Given the description of an element on the screen output the (x, y) to click on. 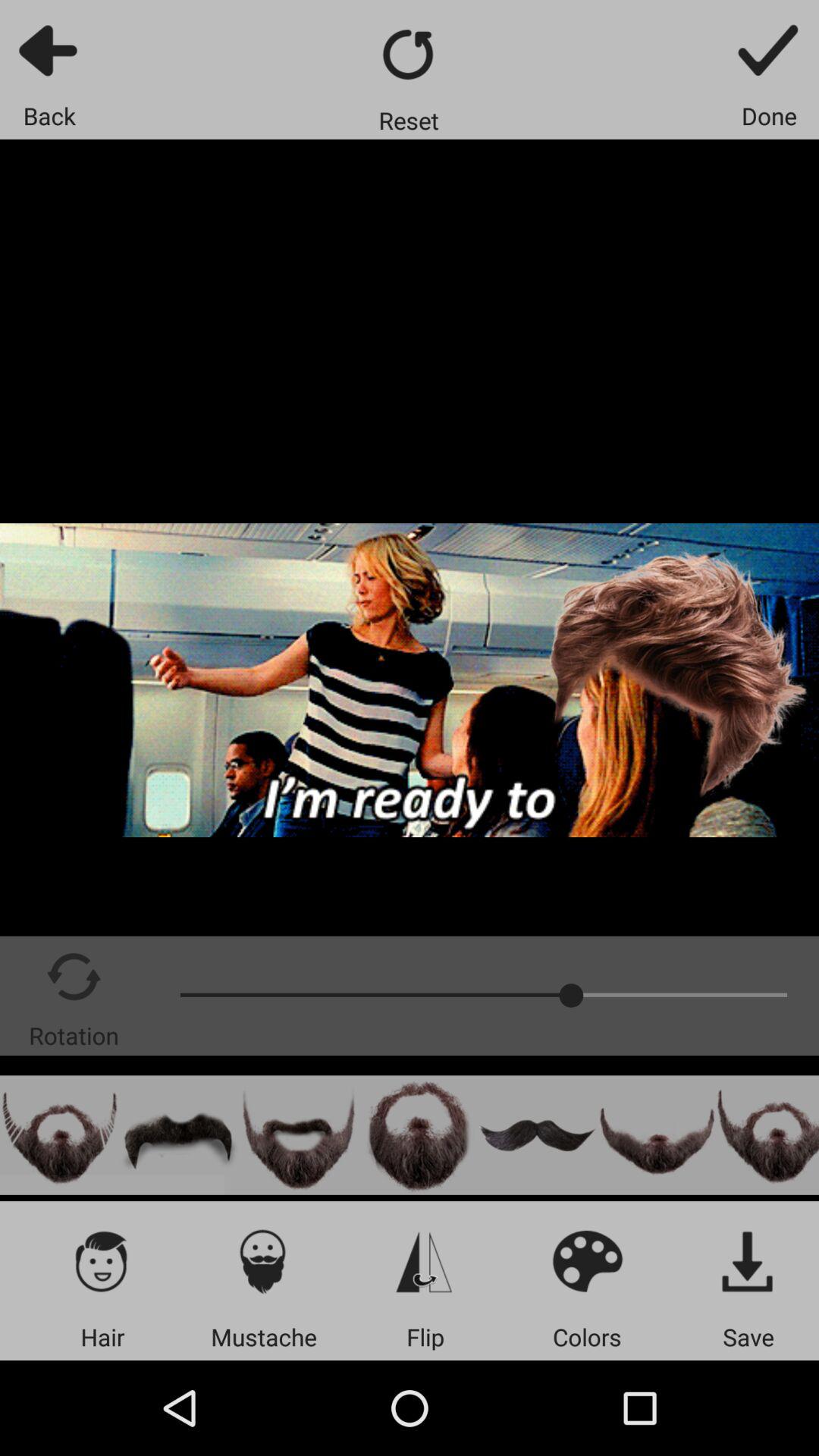
save your selections (748, 1260)
